Given the description of an element on the screen output the (x, y) to click on. 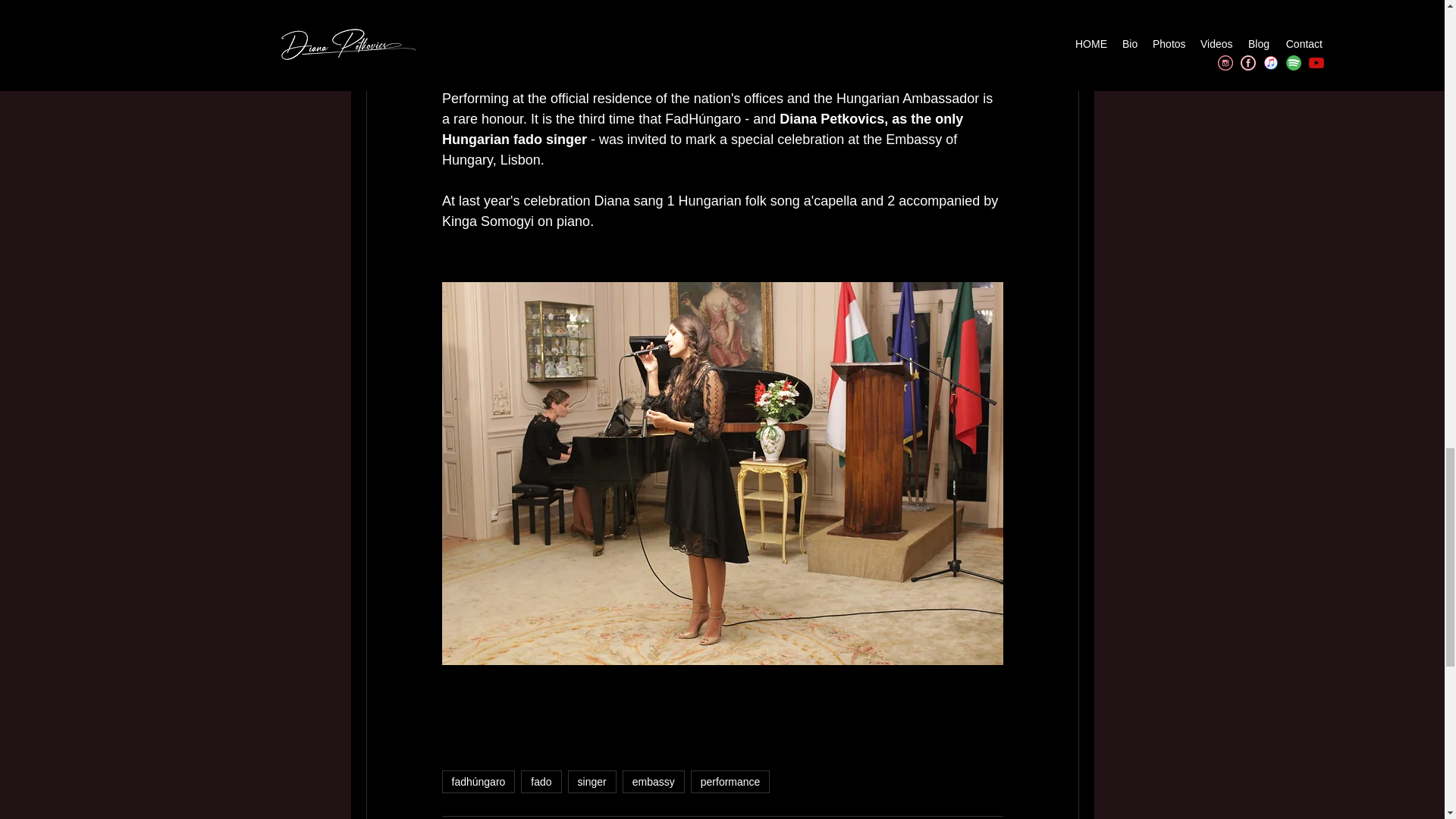
performance (730, 781)
embassy (653, 781)
fado (540, 781)
singer (591, 781)
